Given the description of an element on the screen output the (x, y) to click on. 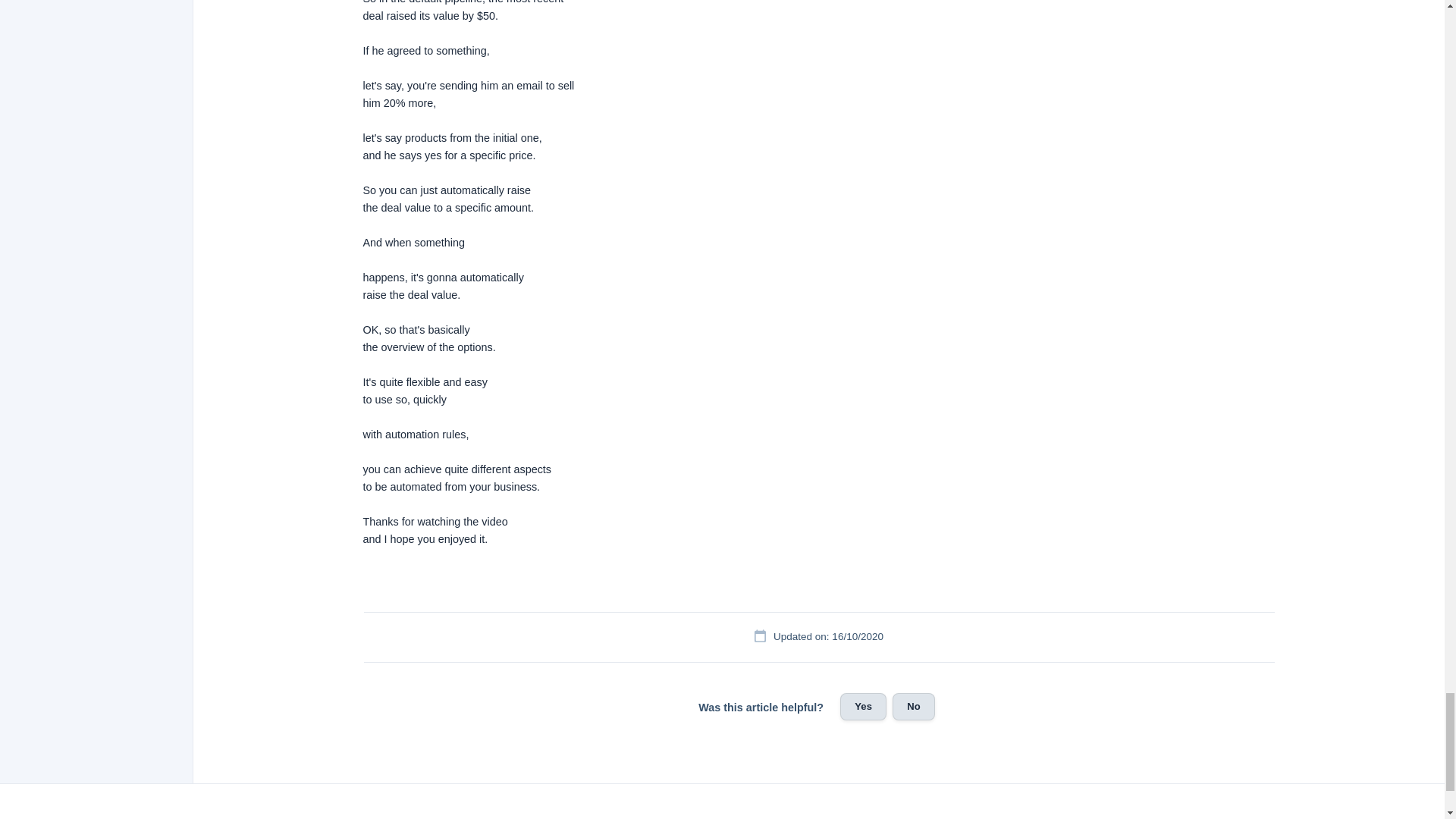
No (913, 706)
Yes (863, 706)
